Given the description of an element on the screen output the (x, y) to click on. 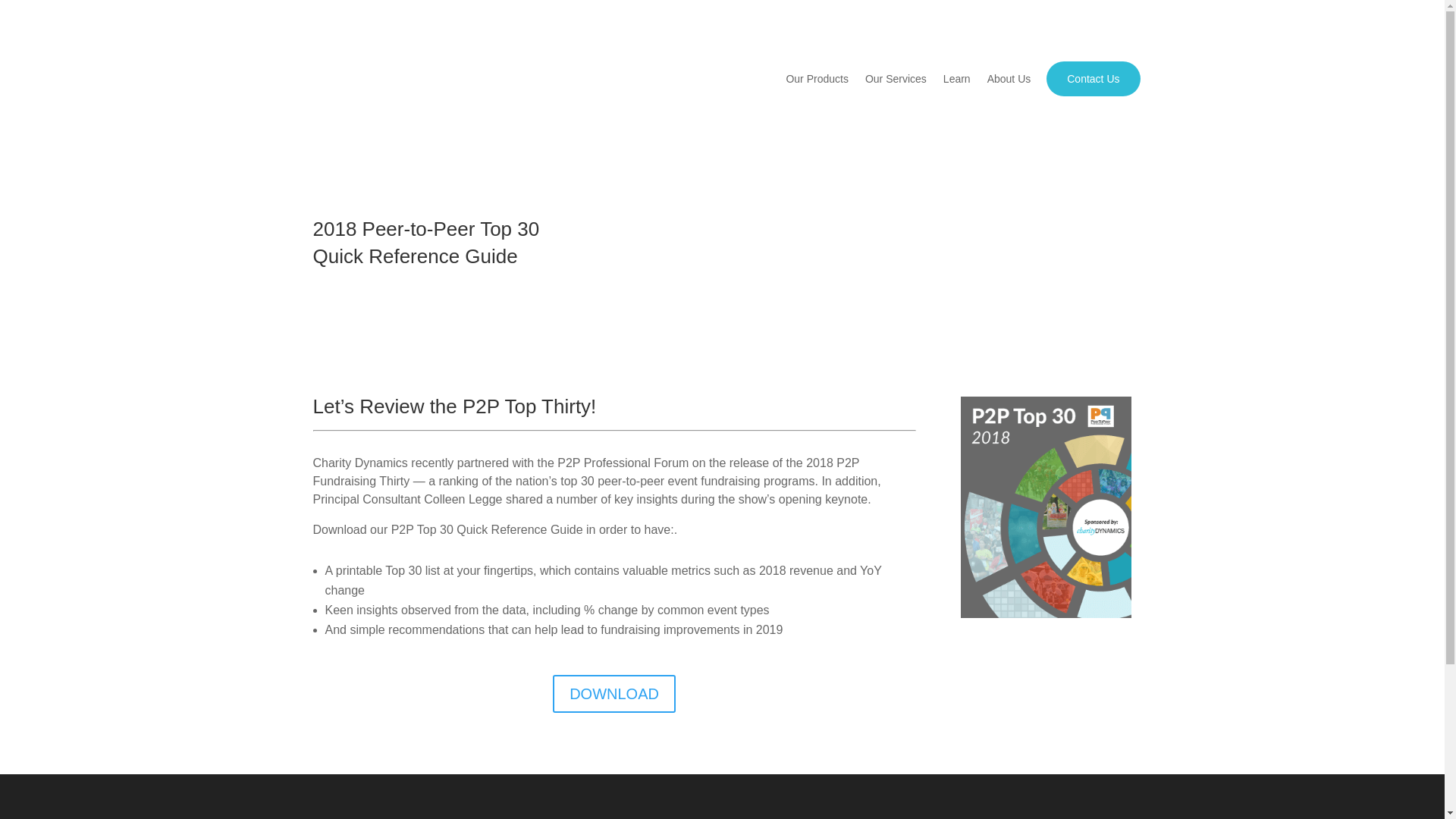
Our Services (895, 78)
About Us (1008, 78)
Our Products (816, 78)
Contact Us (1092, 78)
DOWNLOAD (614, 693)
